Given the description of an element on the screen output the (x, y) to click on. 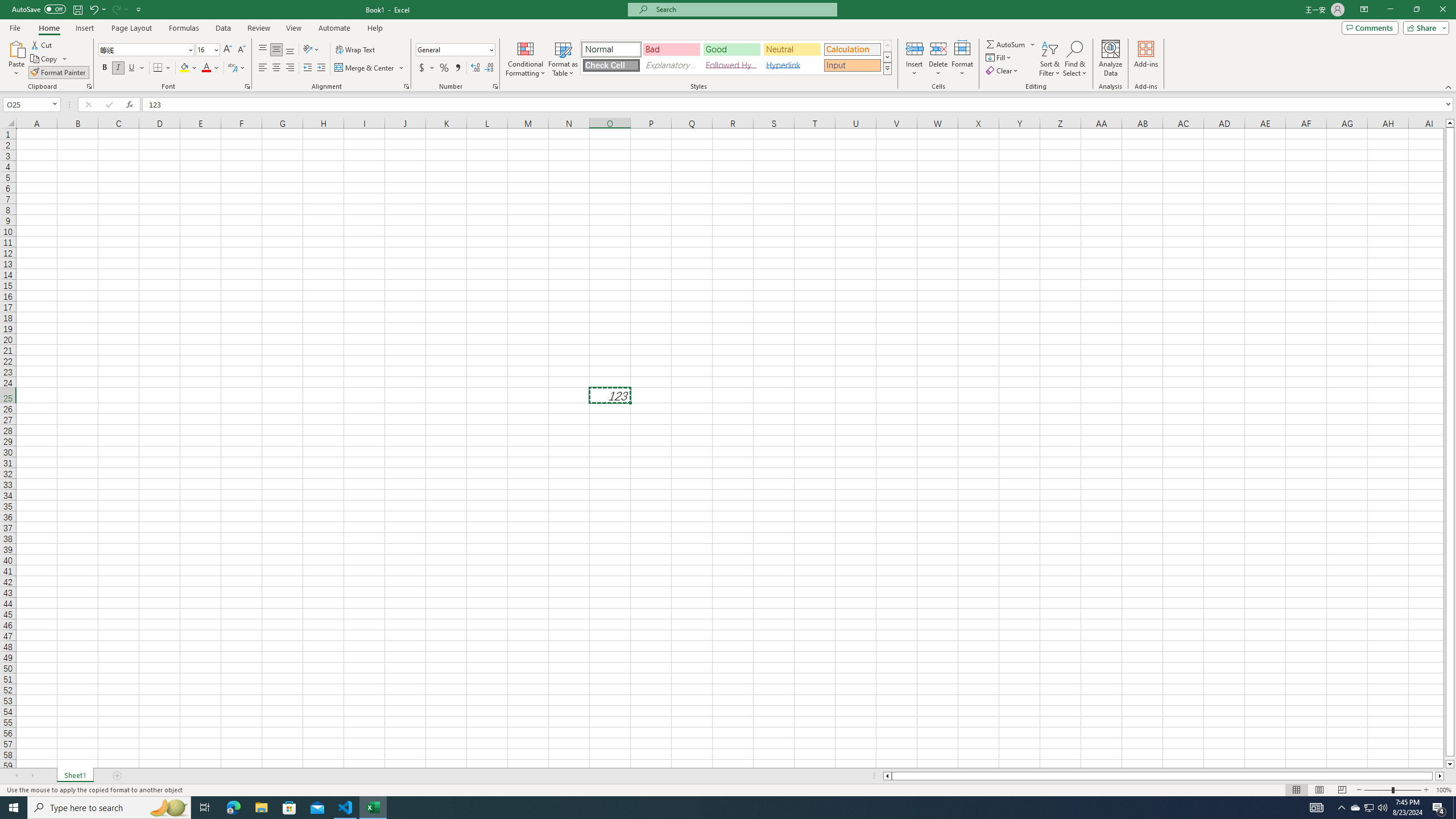
Font Color RGB(255, 0, 0) (206, 67)
Insert (914, 58)
Class: NetUIScrollBar (1163, 775)
Review (258, 28)
Accounting Number Format (422, 67)
Good (731, 49)
Row Down (887, 56)
Data (223, 28)
Undo (92, 9)
Align Left (262, 67)
Name Box (30, 104)
Paste (16, 58)
Fill Color RGB(255, 255, 0) (183, 67)
Font Size (204, 49)
